Given the description of an element on the screen output the (x, y) to click on. 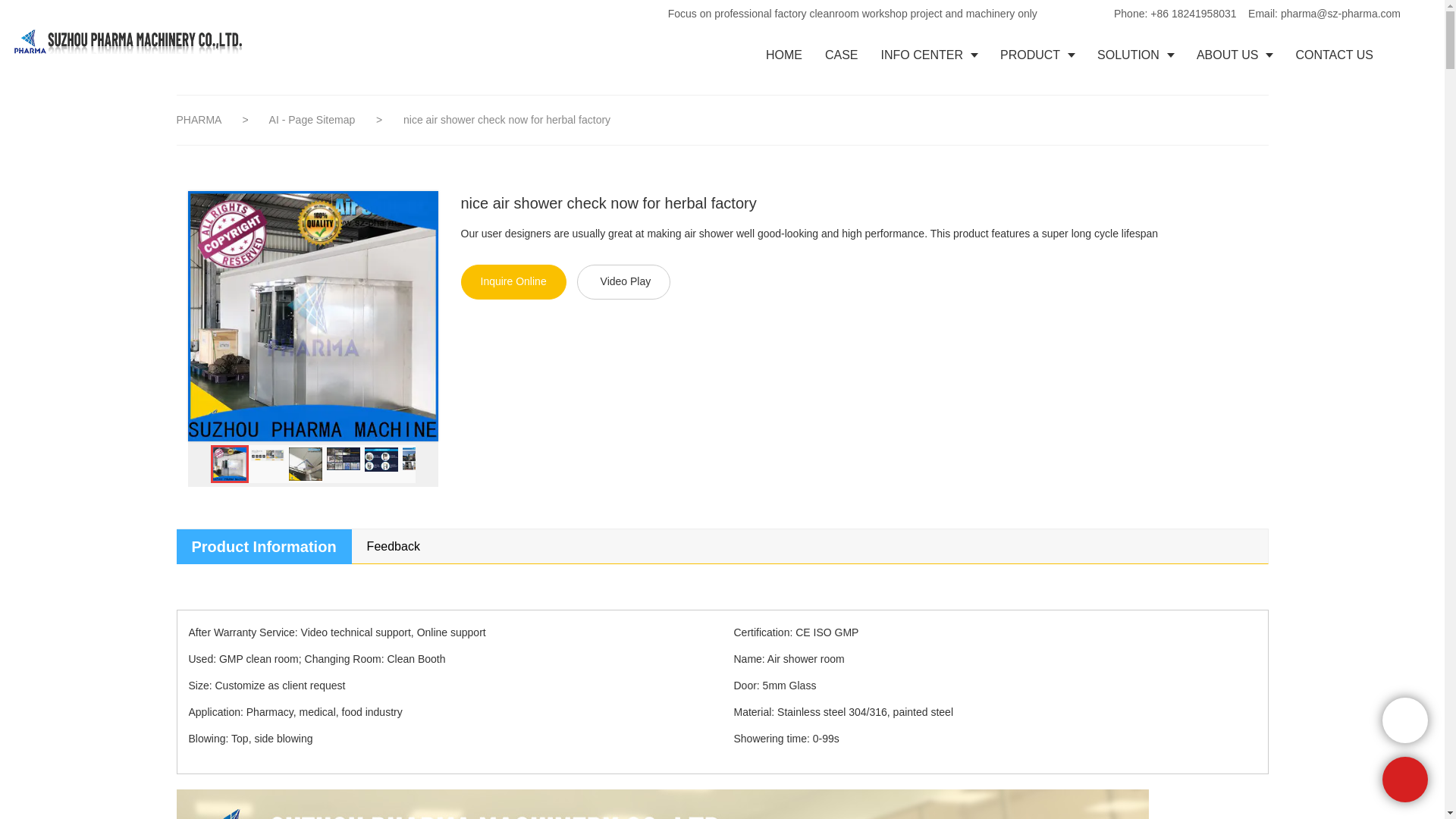
CASE (841, 55)
PRODUCT (1037, 55)
INFO CENTER (928, 55)
HOME (783, 55)
